Given the description of an element on the screen output the (x, y) to click on. 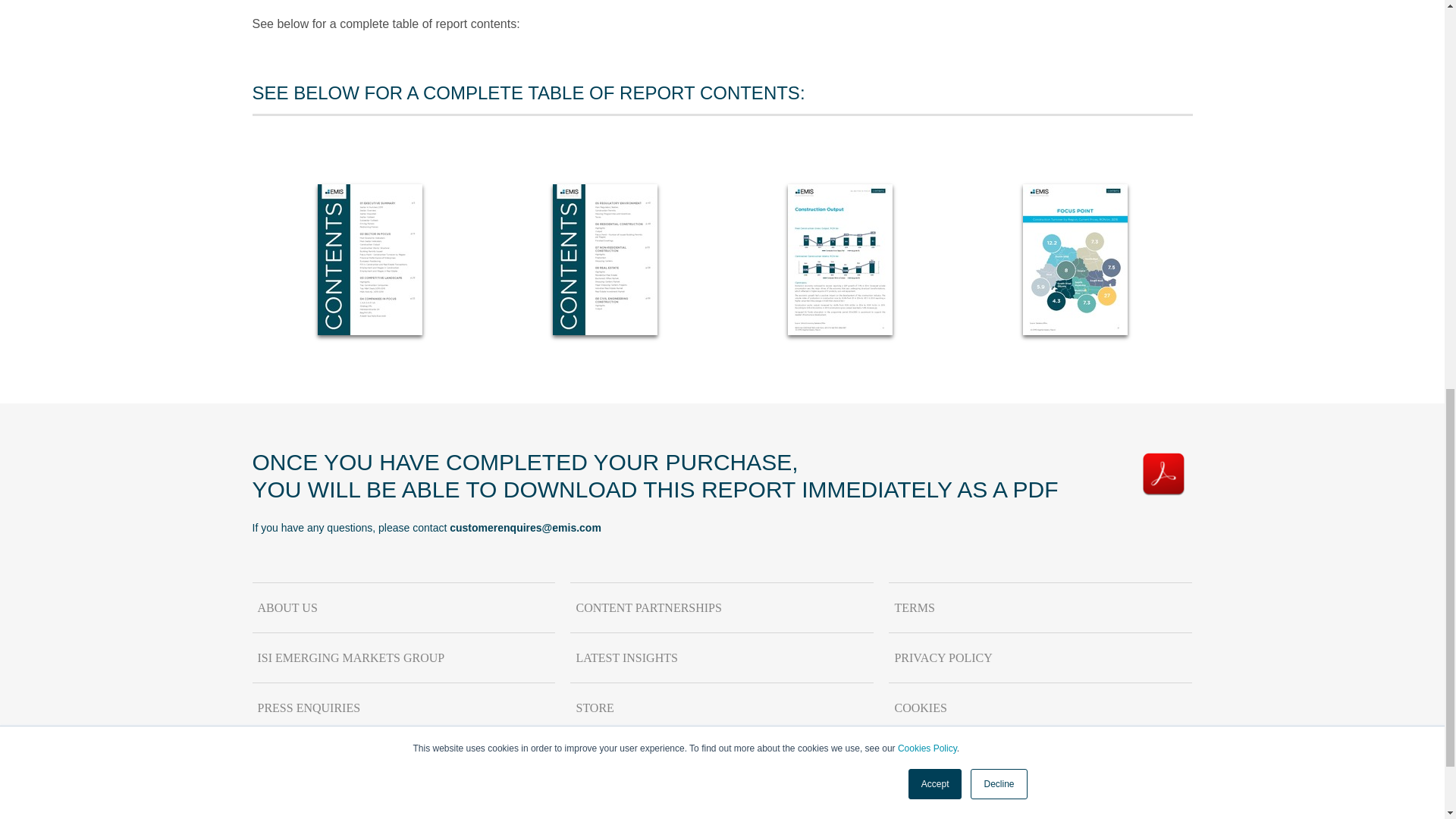
Cookies (1040, 708)
Content Partnerships (721, 607)
Press Enquiries (402, 708)
Terms (1040, 607)
Request demo (402, 757)
ISI Emerging Markets Group (402, 658)
Latest Insights (721, 658)
About us (402, 607)
Privacy Policy (1040, 658)
Store (721, 708)
